Given the description of an element on the screen output the (x, y) to click on. 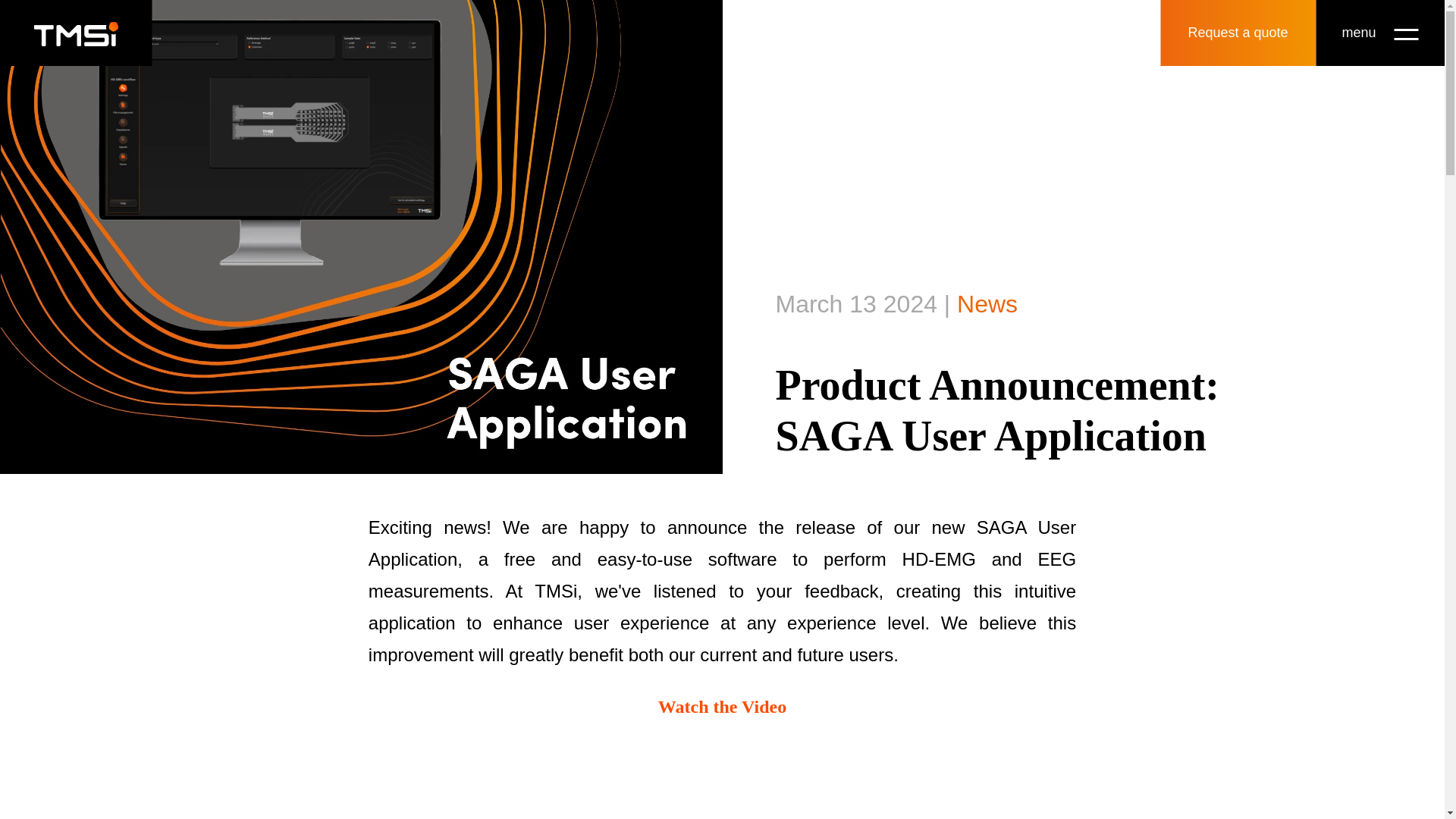
YouTube video player (721, 780)
TMSi (75, 33)
menu (1379, 32)
Request a quote (1238, 33)
